Given the description of an element on the screen output the (x, y) to click on. 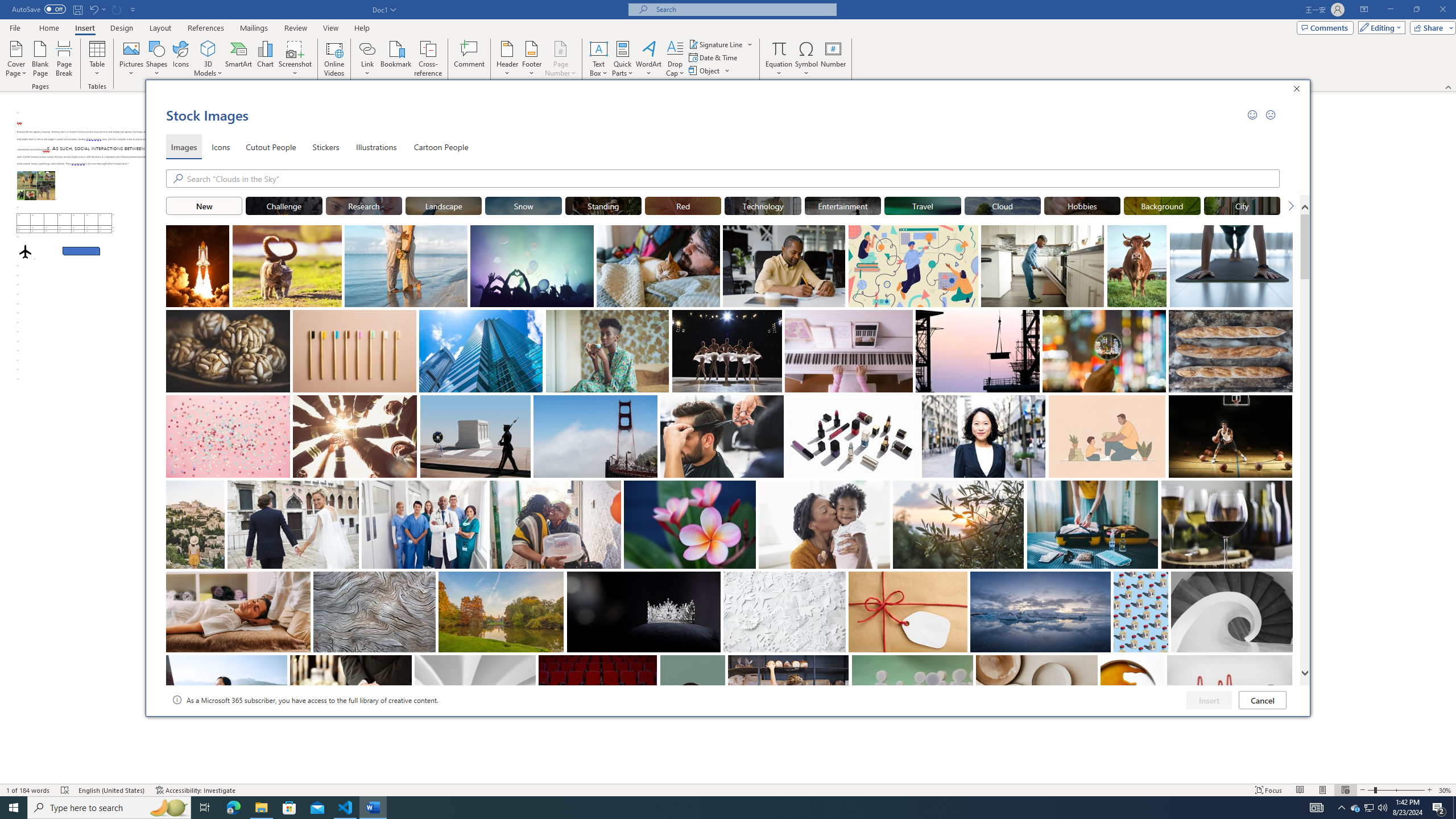
Help (361, 28)
Rectangle: Diagonal Corners Snipped 2 (81, 250)
Thumbnail (1283, 663)
Undo Apply Quick Style Set (96, 9)
Cancel (1263, 700)
Date & Time... (714, 56)
Q2790: 100% (1382, 807)
Task View (1368, 807)
